Given the description of an element on the screen output the (x, y) to click on. 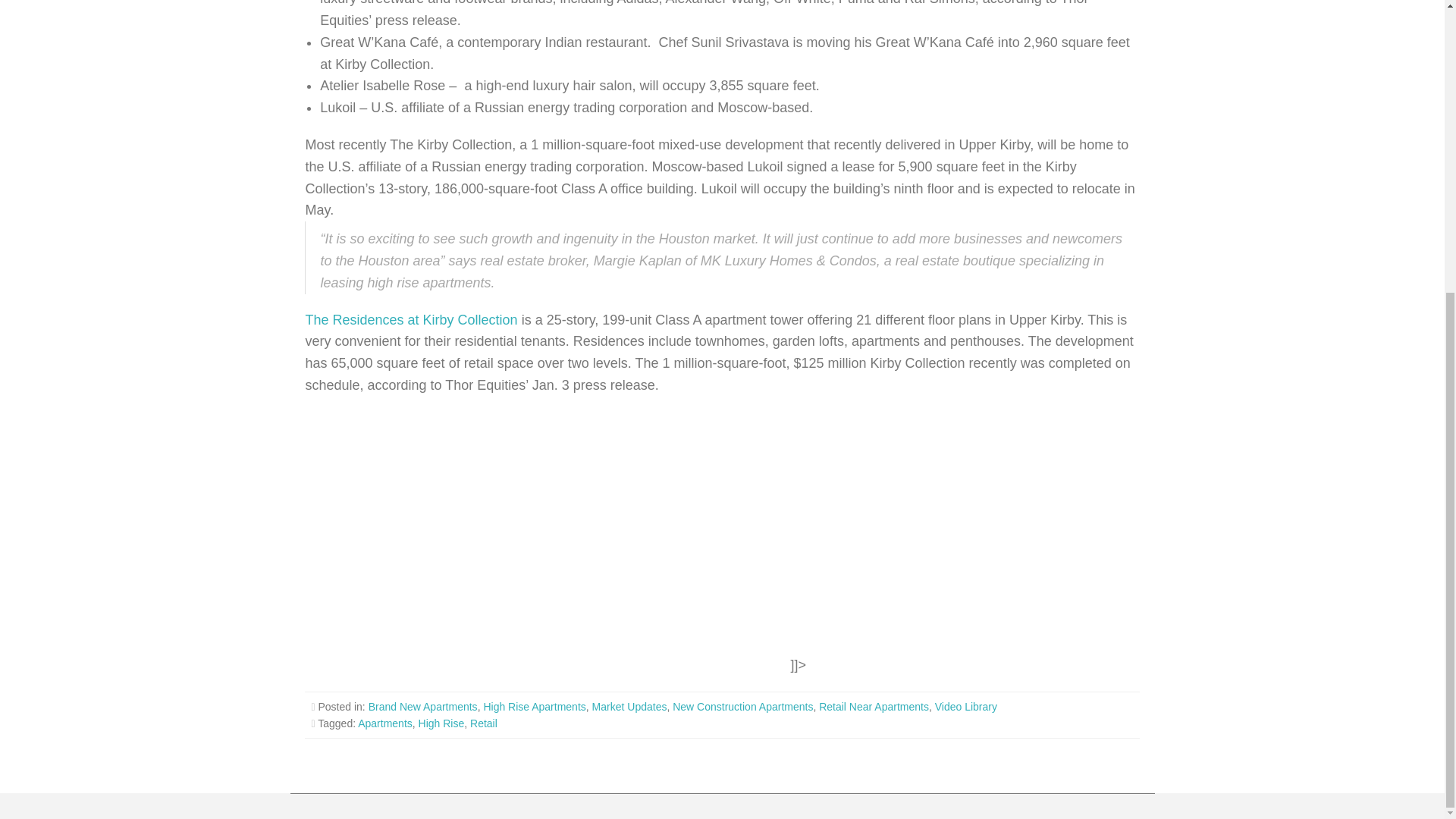
High Rise Apartments (534, 706)
The Residences at Kirby Collection (410, 319)
Brand New Apartments (422, 706)
Market Updates (629, 706)
